Given the description of an element on the screen output the (x, y) to click on. 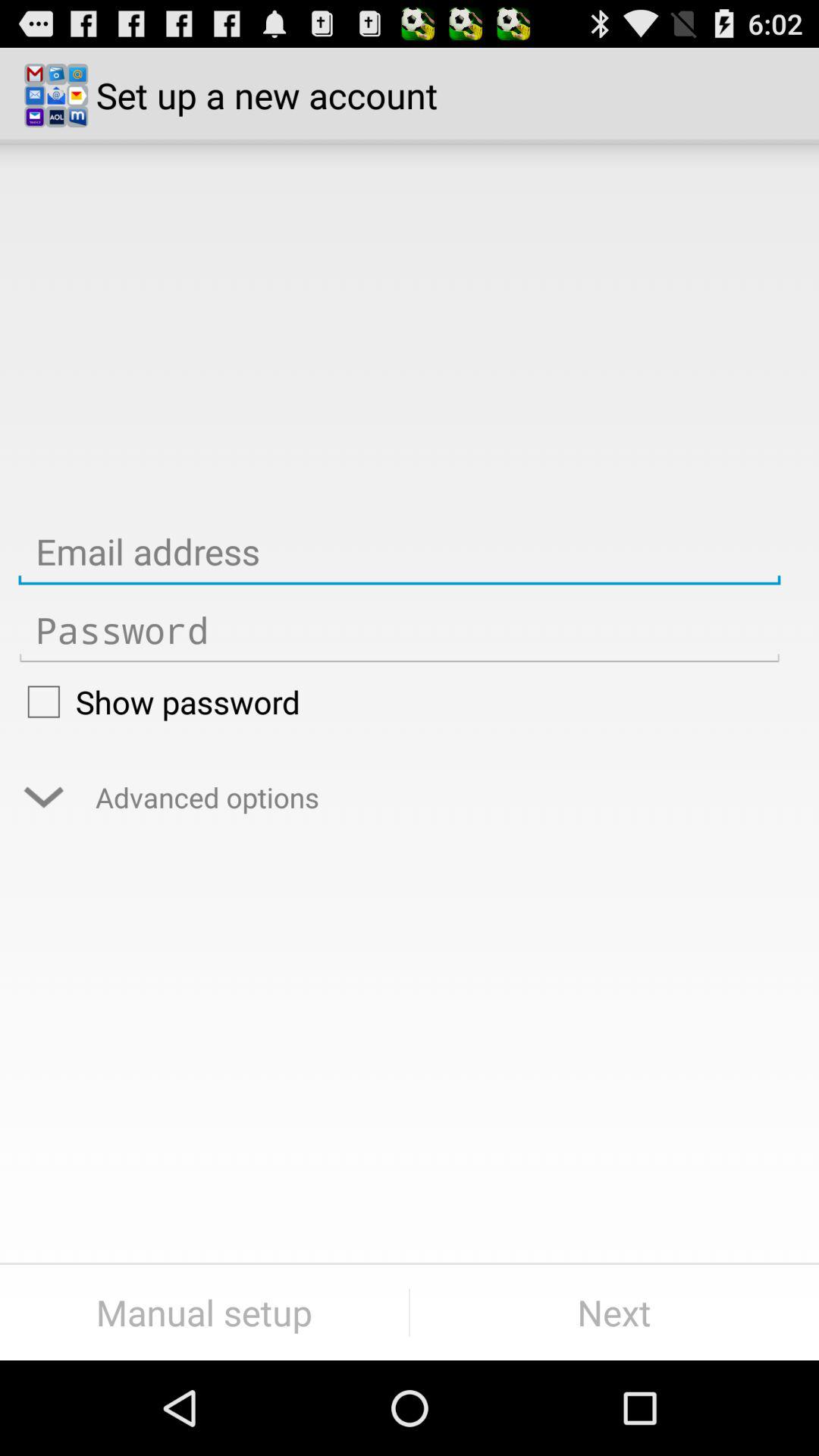
enter password (399, 630)
